Given the description of an element on the screen output the (x, y) to click on. 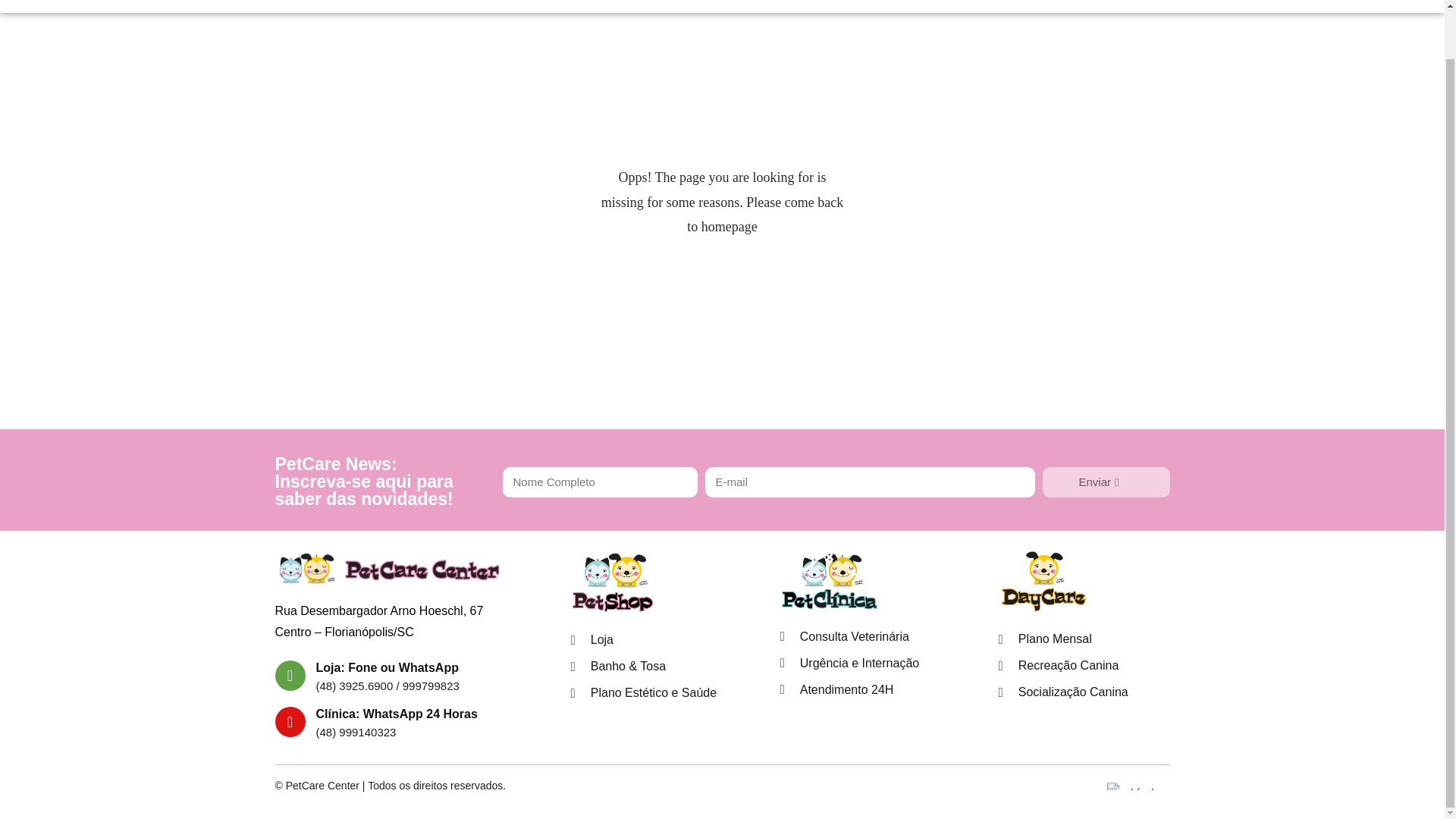
Enviar (1105, 481)
Loja: Fone ou WhatsApp (386, 667)
